Given the description of an element on the screen output the (x, y) to click on. 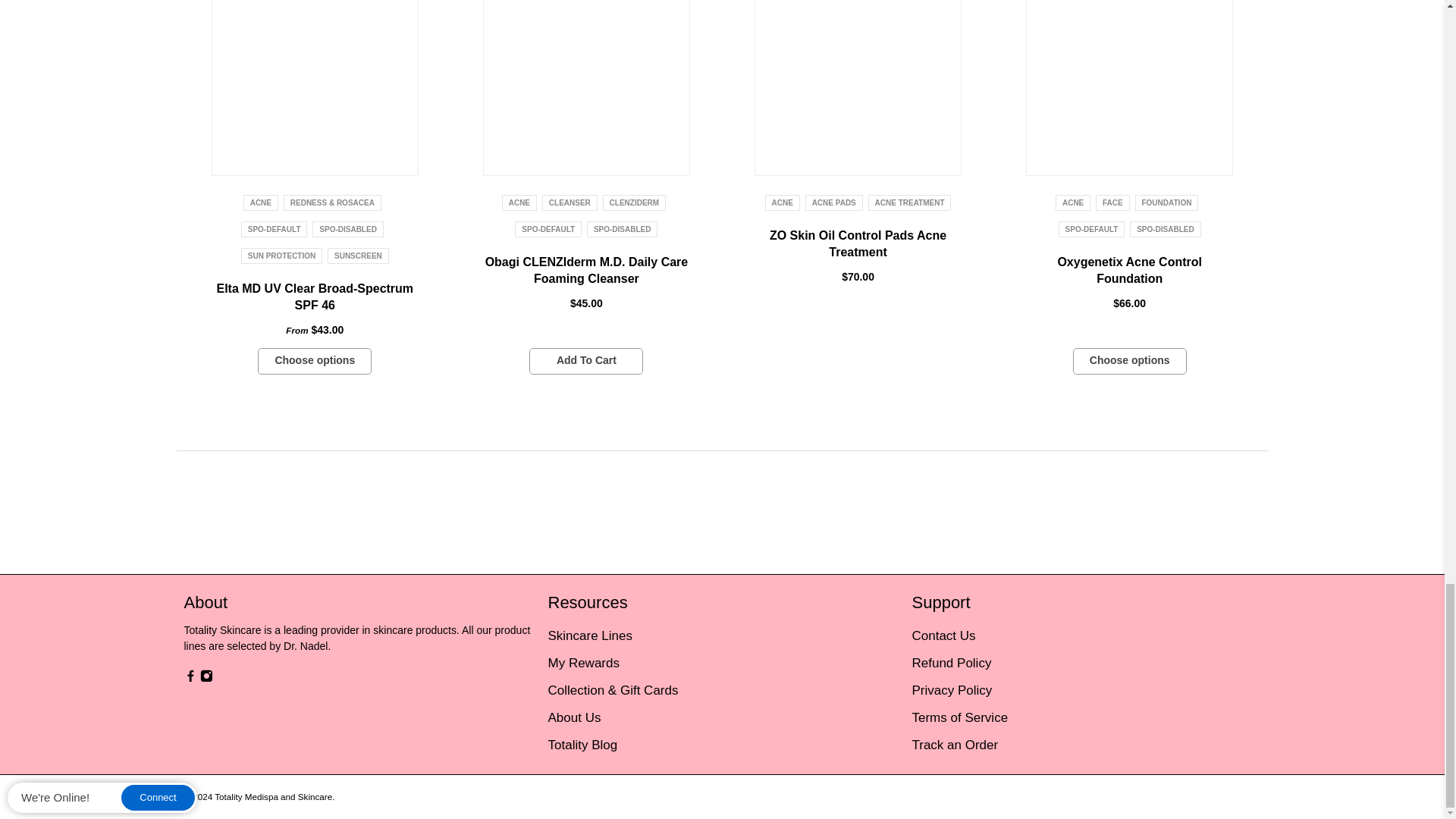
Products tagged Acne (260, 202)
Products tagged spo-disabled (347, 229)
Products tagged Sun Protection (281, 255)
Products tagged Acne (518, 202)
Products tagged spo-default (274, 229)
Products tagged Sunscreen (357, 255)
